Given the description of an element on the screen output the (x, y) to click on. 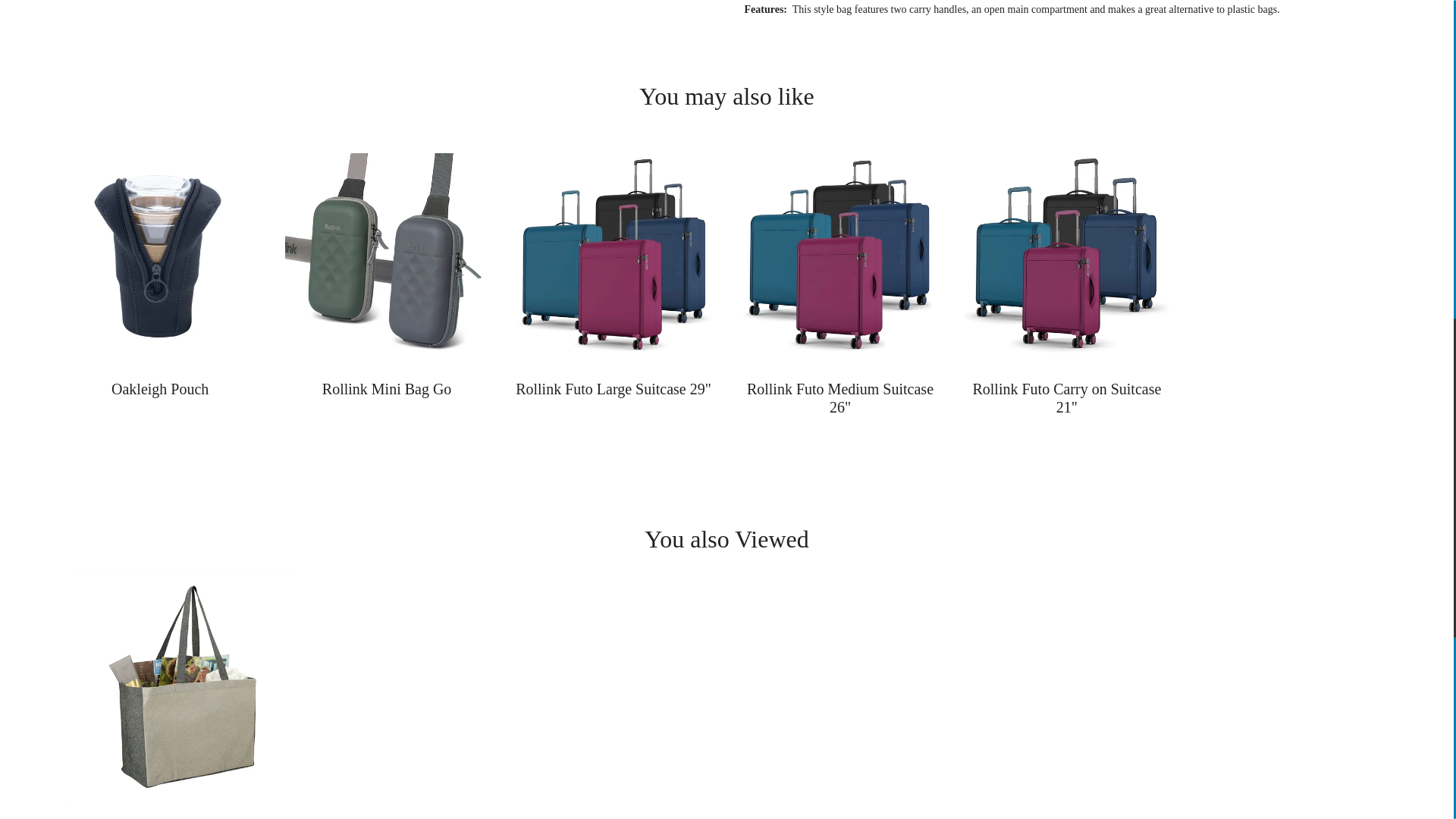
Recycled Cotton Contrast Side Shopper Tote 18L (184, 687)
Rollink Futo Carry on Suitcase 21" (1066, 255)
Oakleigh Pouch (160, 255)
Rollink Futo Large Suitcase 29" (614, 255)
Rollink Futo Medium Suitcase 26" (840, 255)
Rollink Mini Bag Go (387, 255)
